Given the description of an element on the screen output the (x, y) to click on. 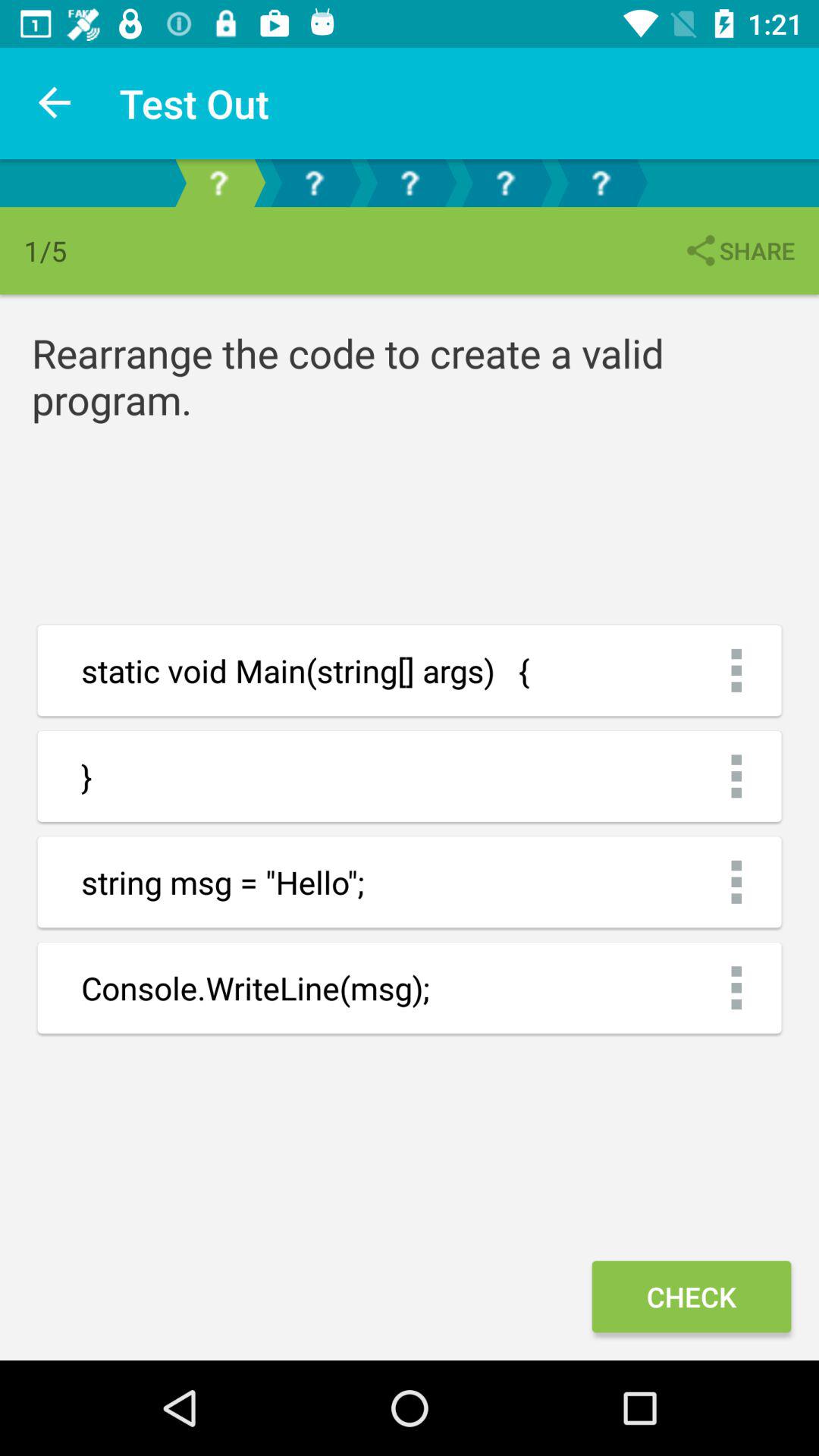
step 3 (409, 183)
